Given the description of an element on the screen output the (x, y) to click on. 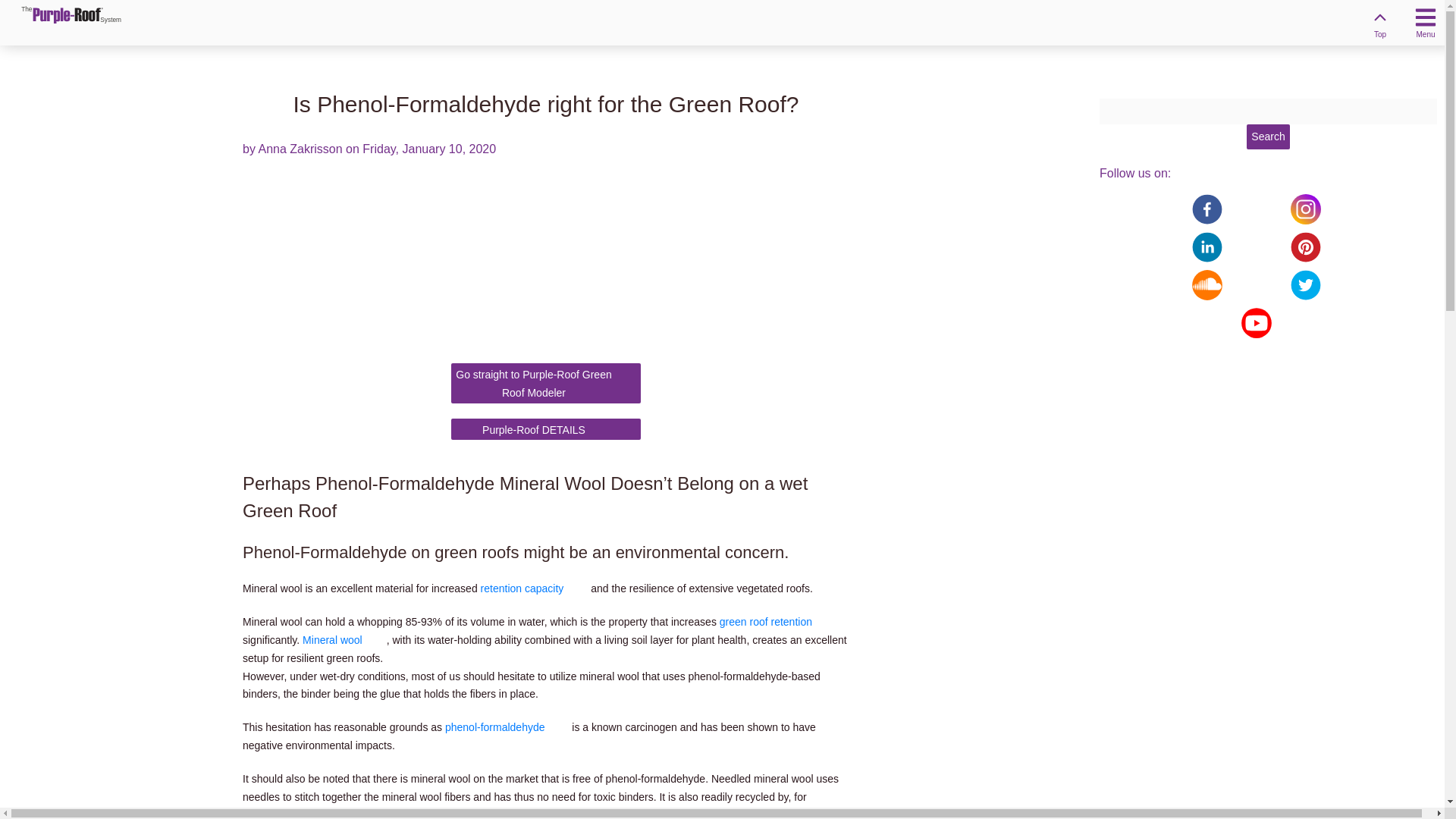
Purple-Roof DETAILS (545, 429)
Mineral wool (344, 639)
Phenol-formaldehyde explained (507, 727)
Purple-Roof Details (545, 429)
Learn more about mineral wool! (344, 639)
phenol-formaldehyde (507, 727)
Evapotranspiration determines green roof retention! (777, 621)
Go straight to Purple-Roof Green Roof Modeler (545, 383)
Search (1267, 136)
green roof retention (777, 621)
